Given the description of an element on the screen output the (x, y) to click on. 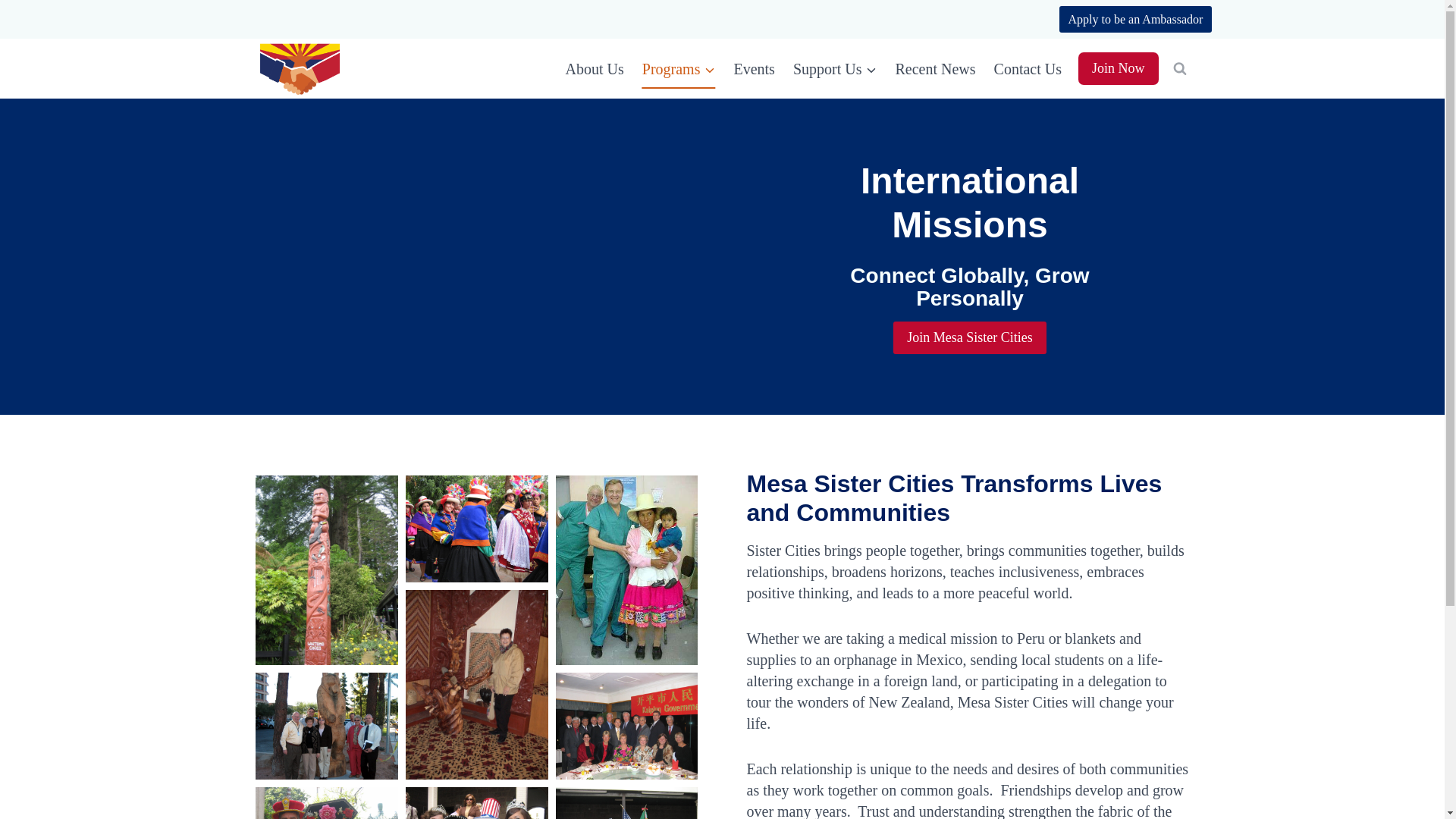
Recent News (934, 68)
Apply to be an Ambassador (1135, 18)
Support Us (835, 68)
About Us (594, 68)
Events (753, 68)
Programs (679, 68)
Join Now (1118, 68)
Join Mesa Sister Cities (969, 337)
Contact Us (1027, 68)
